Given the description of an element on the screen output the (x, y) to click on. 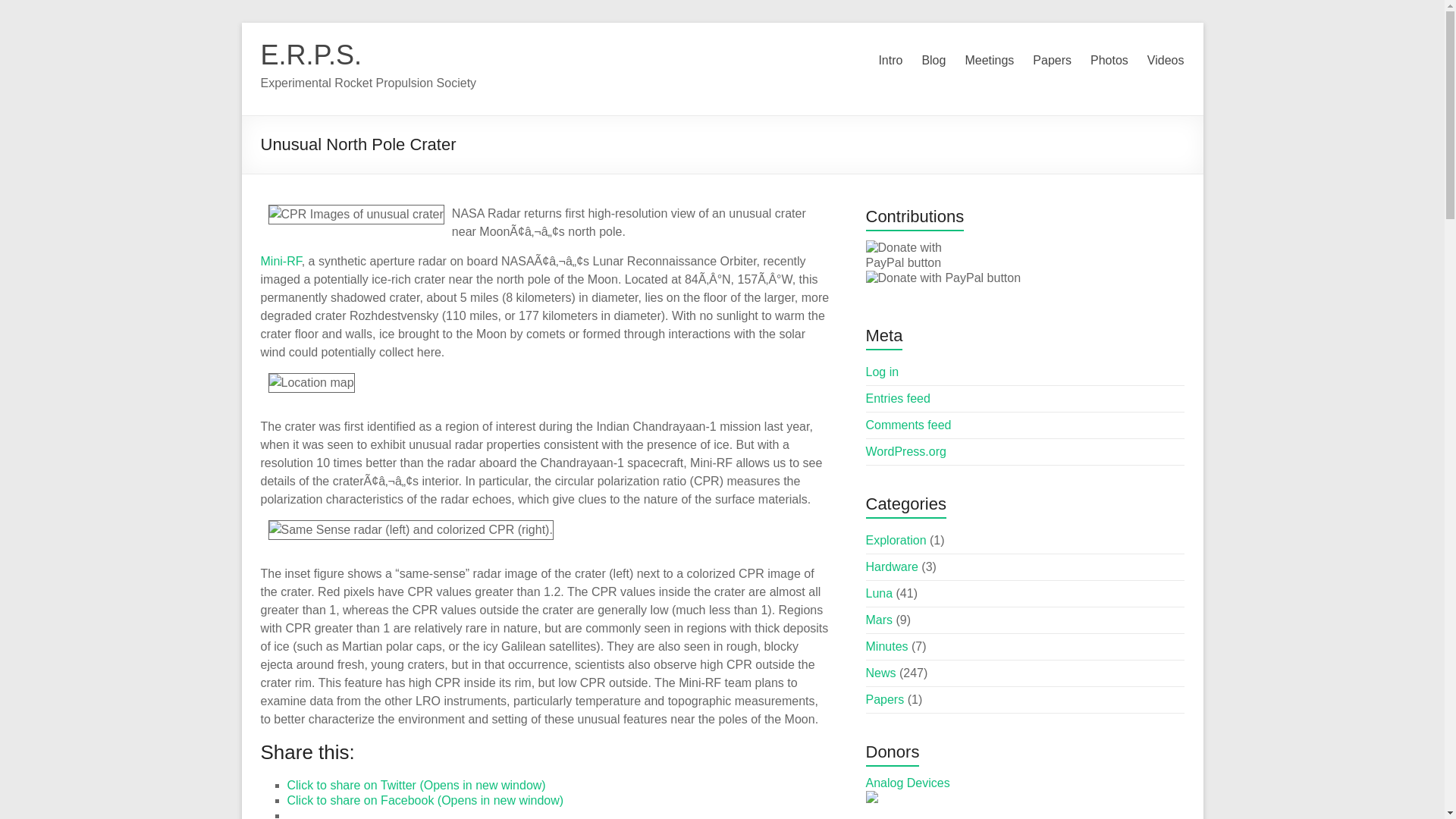
Papers (885, 698)
Minutes (887, 645)
Comments feed (909, 424)
Photos (1109, 60)
E.R.P.S. (310, 54)
Hardware (892, 566)
Click to share on Facebook (424, 799)
PayPal - The safer, easier way to pay online! (922, 255)
Intro (889, 60)
Meetings (988, 60)
Mini-RF (280, 260)
Analog Devices (908, 782)
Blog (932, 60)
Aqua Environment (916, 818)
